Given the description of an element on the screen output the (x, y) to click on. 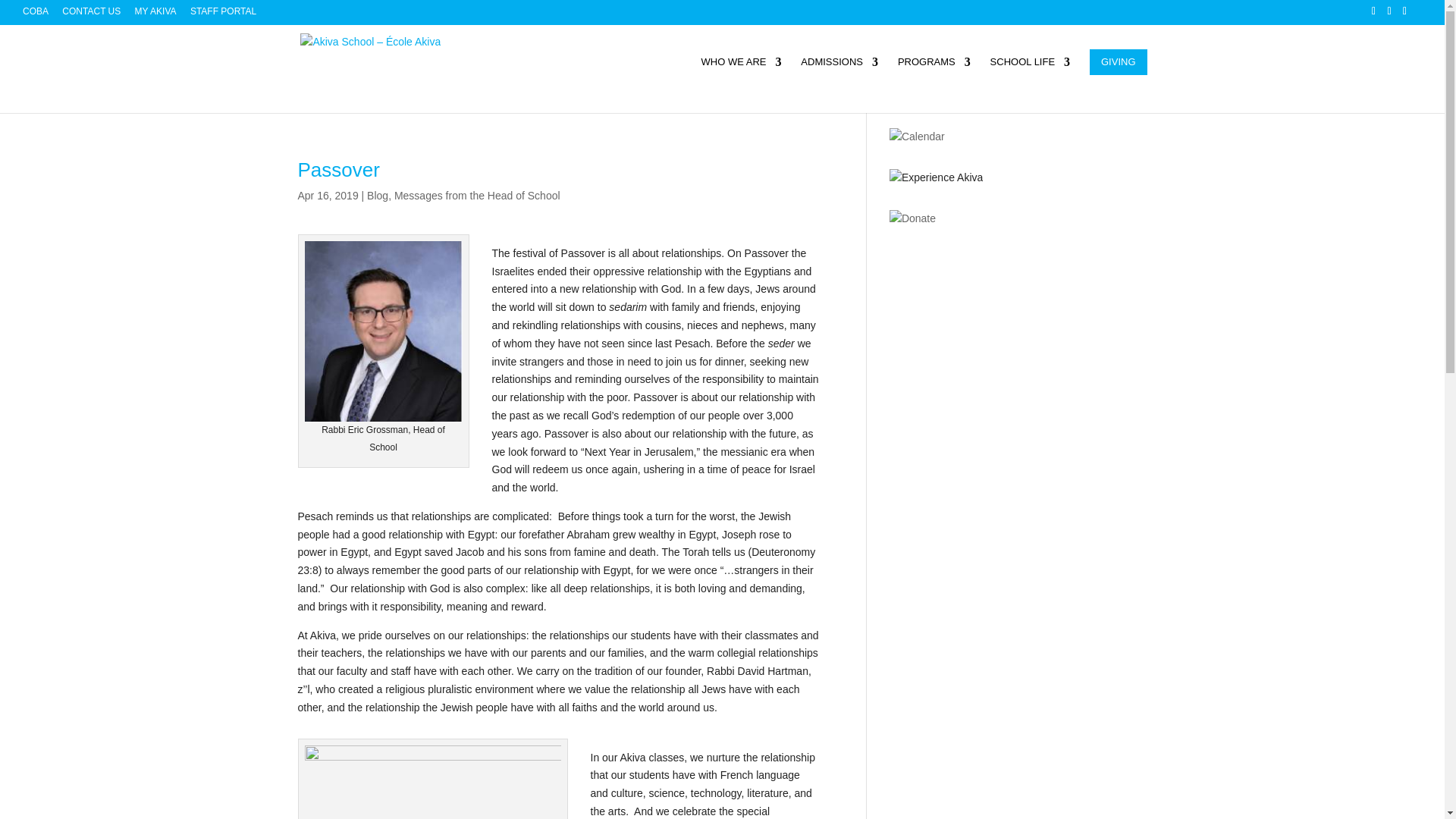
COBA (35, 14)
STAFF PORTAL (223, 14)
MY AKIVA (155, 14)
SCHOOL LIFE (1030, 75)
WHO WE ARE (741, 75)
ADMISSIONS (838, 75)
CONTACT US (91, 14)
PROGRAMS (934, 75)
